Given the description of an element on the screen output the (x, y) to click on. 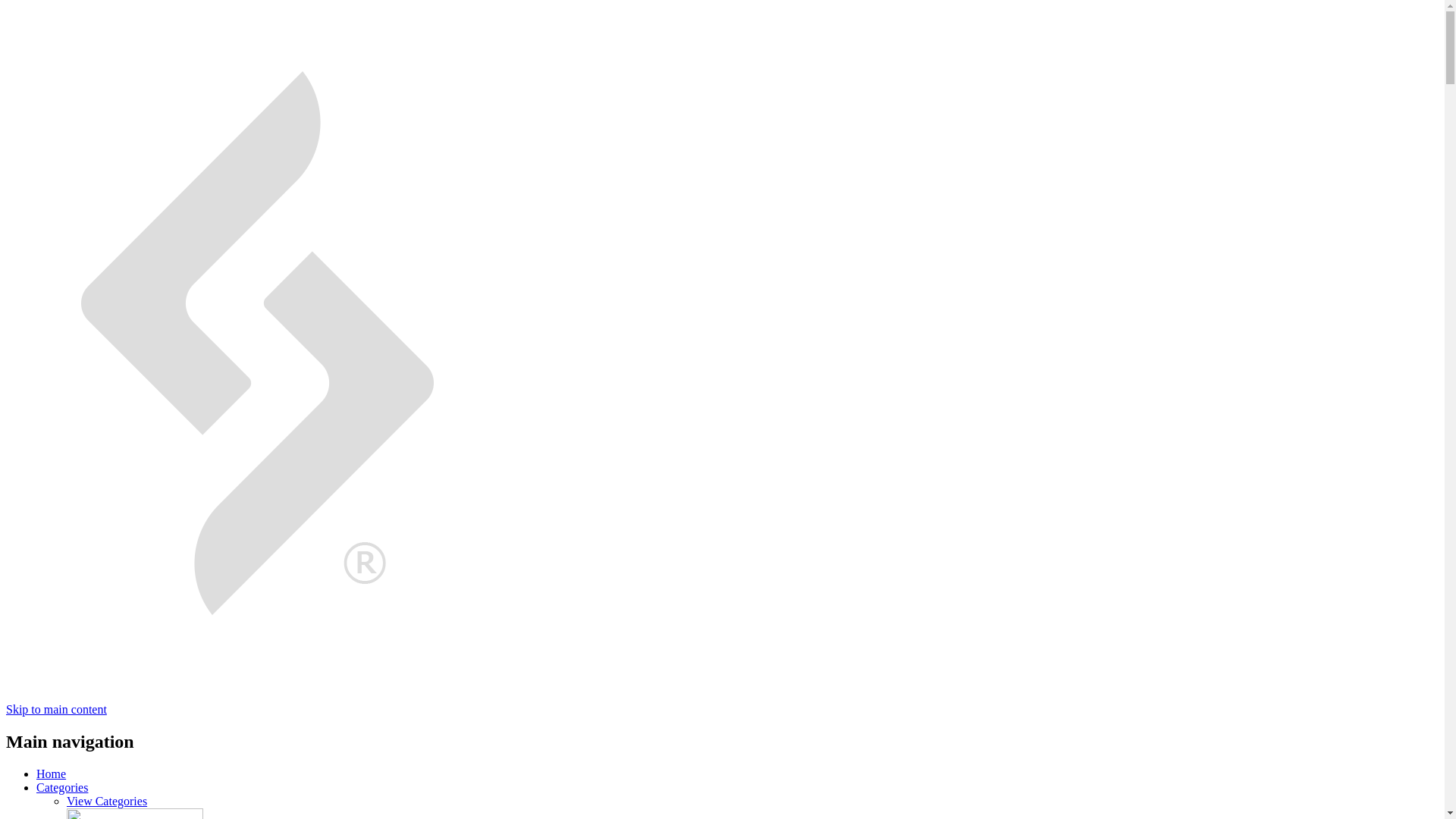
Categories (61, 787)
View Categories (106, 800)
Home (50, 773)
Skip to main content (55, 708)
